Given the description of an element on the screen output the (x, y) to click on. 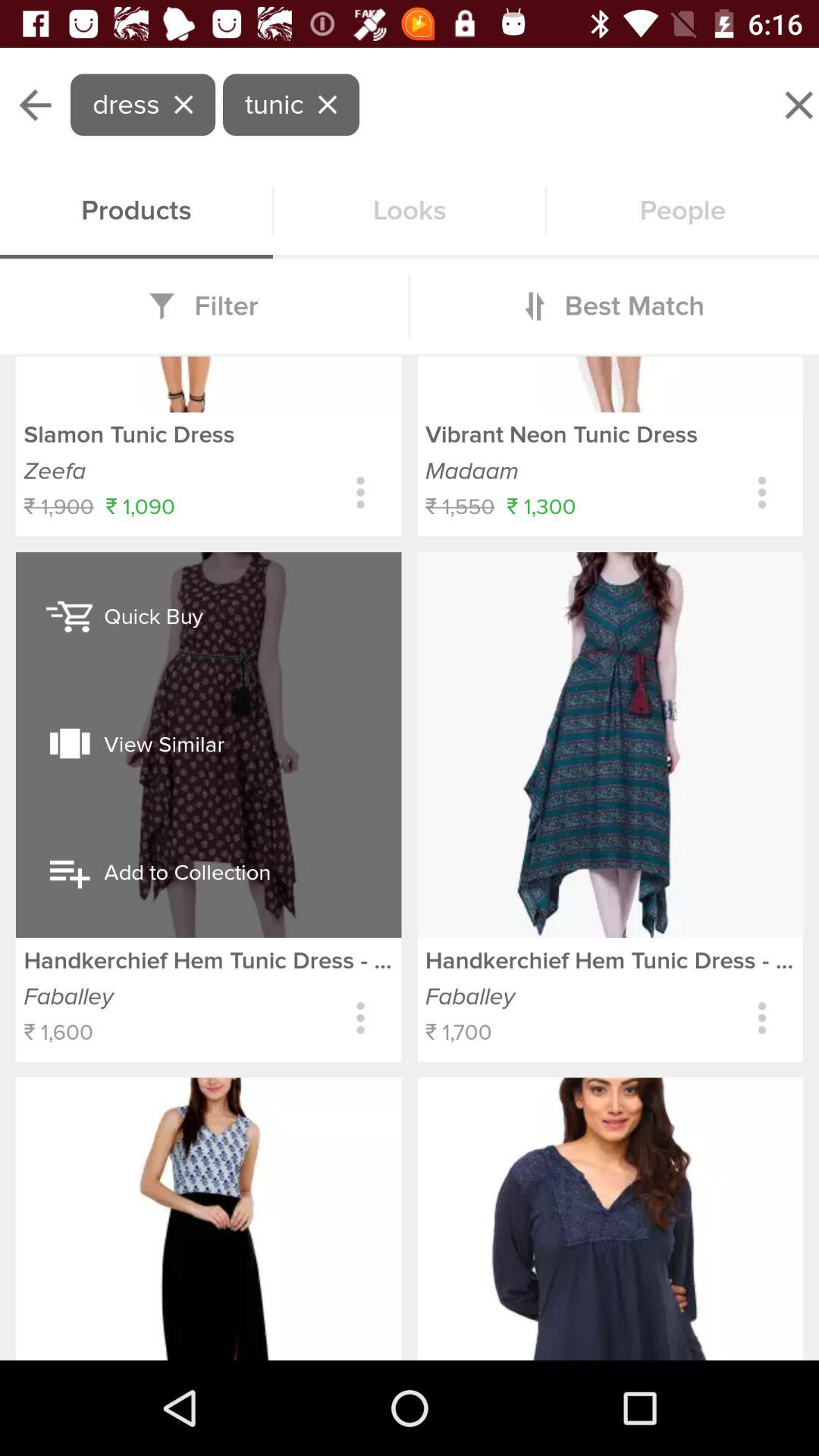
click the picture above the vibrant neon tunic dress (610, 384)
select the options button below vibrant neon tunic dress (762, 492)
select the first image in second row (208, 1218)
click on the second image from right bottom (610, 744)
